Given the description of an element on the screen output the (x, y) to click on. 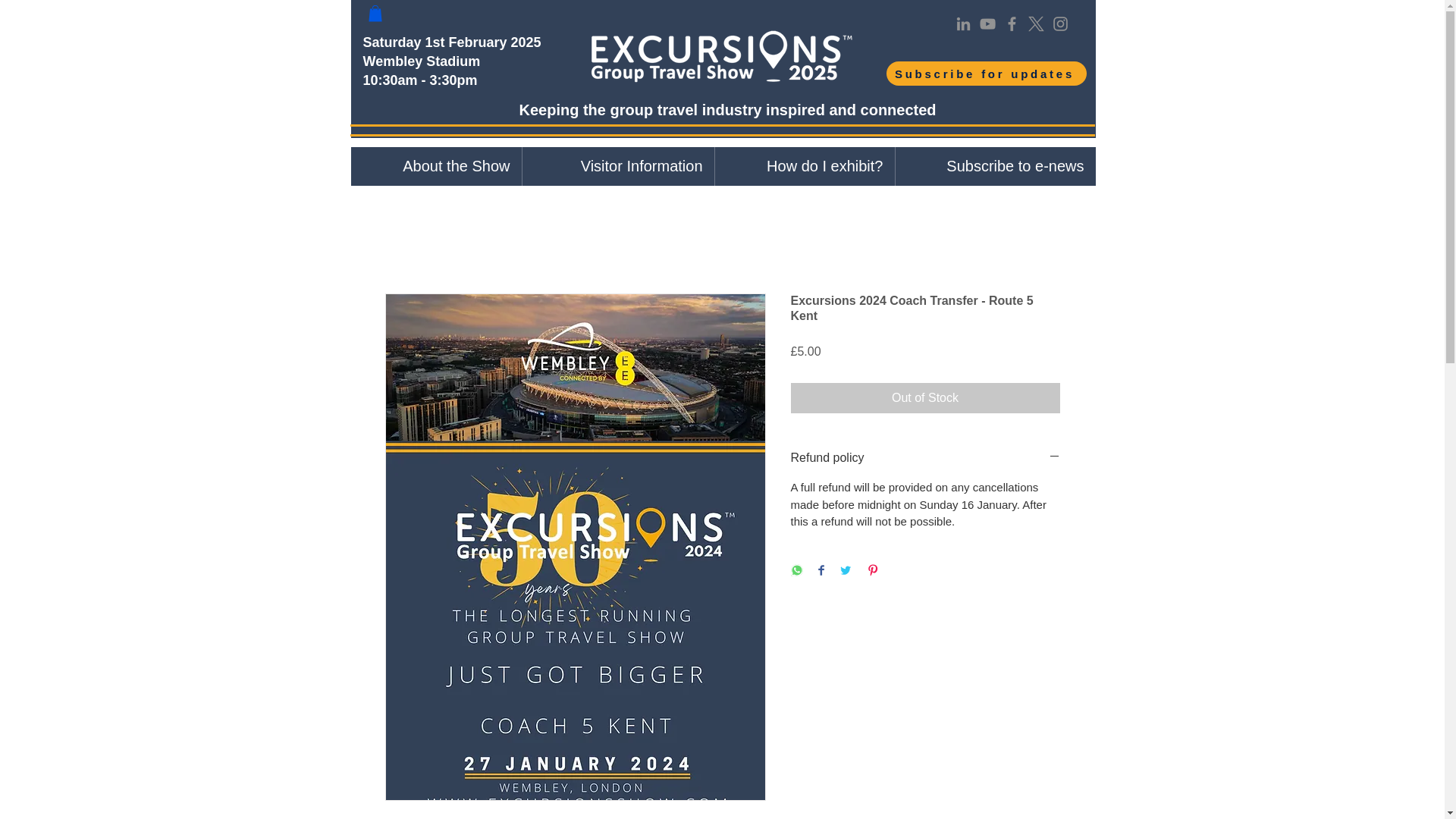
Subscribe to e-news (995, 166)
Visitor Information (617, 166)
About the Show (435, 166)
Subscribe for updates (985, 73)
Refund policy (924, 457)
How do I exhibit? (804, 166)
Out of Stock (924, 398)
